Given the description of an element on the screen output the (x, y) to click on. 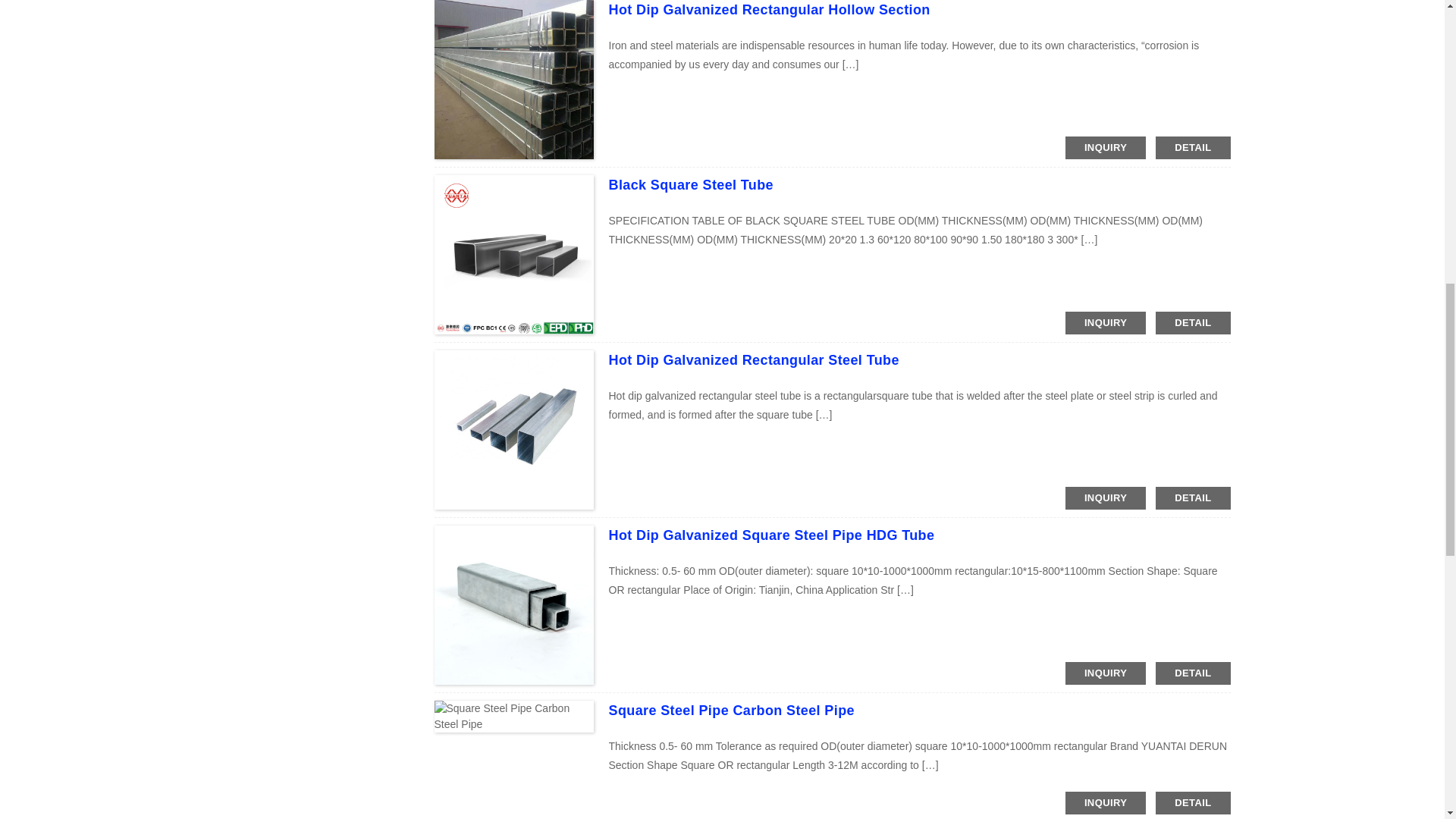
Black Square Steel Tube (690, 184)
INQUIRY (1105, 147)
Hot Dip Galvanized Rectangular Steel Tube (753, 359)
INQUIRY (1105, 323)
Hot Dip Galvanized Rectangular Hollow Section (769, 9)
Hot Dip Galvanized Rectangular Steel Tube (753, 359)
Black Square Steel Tube (690, 184)
DETAIL (1193, 147)
Hot Dip Galvanized Rectangular Hollow Section (769, 9)
DETAIL (1193, 323)
